Given the description of an element on the screen output the (x, y) to click on. 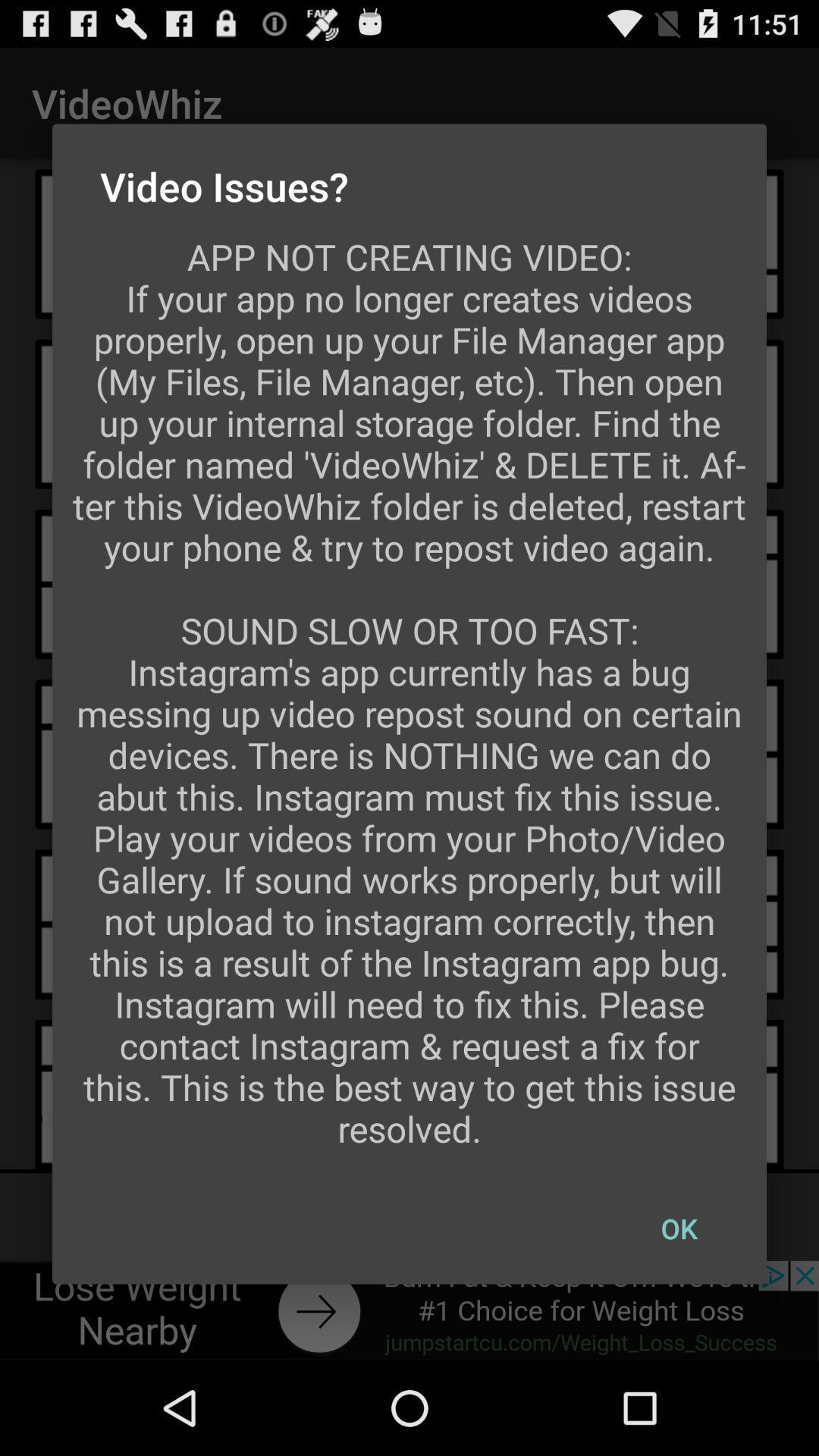
swipe until the ok item (678, 1228)
